Given the description of an element on the screen output the (x, y) to click on. 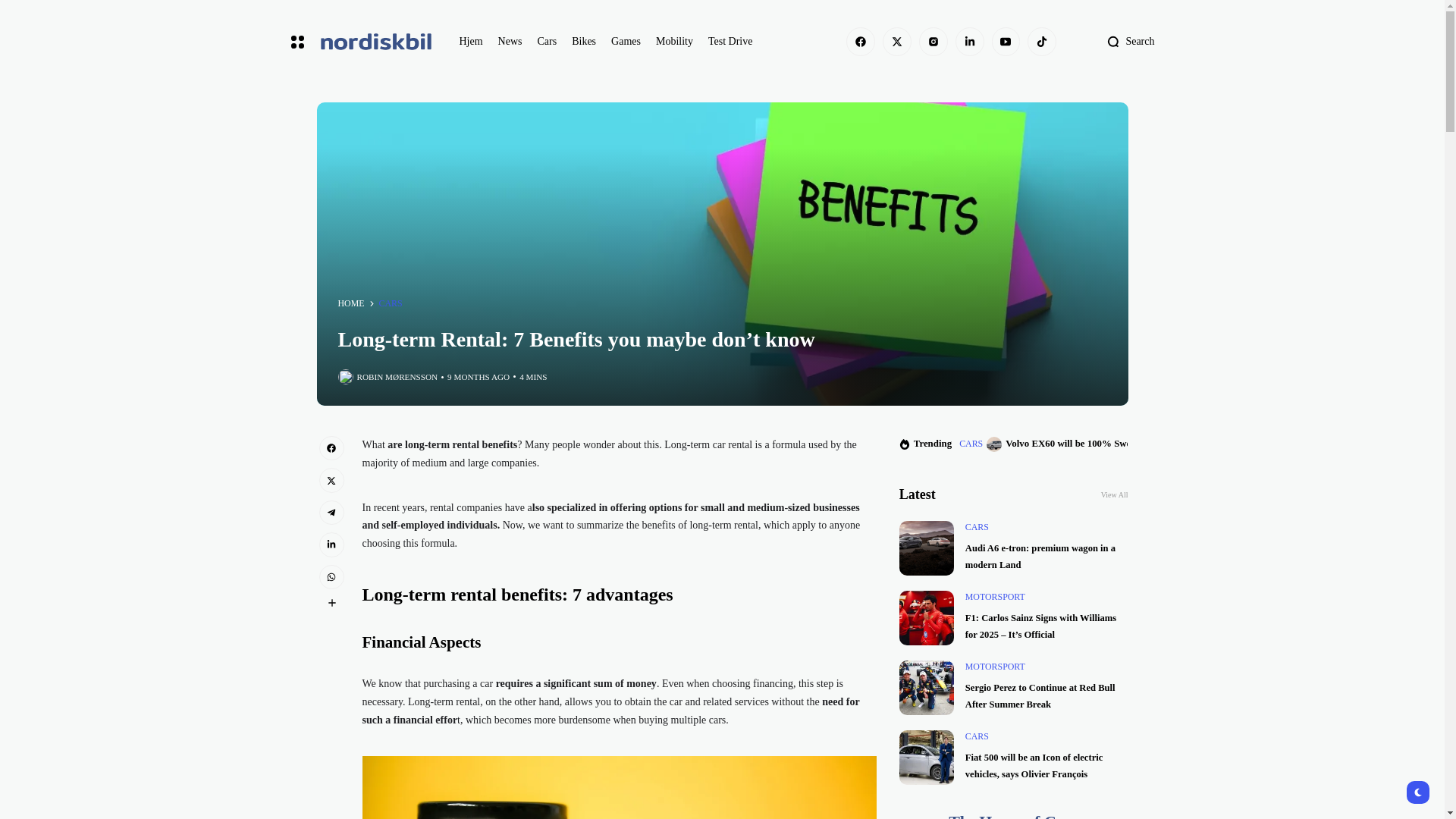
9 MONTHS AGO (477, 377)
instagram (932, 41)
linkedin (969, 41)
CARS (390, 304)
twitter (896, 41)
tiktok (1042, 41)
HOME (351, 304)
NordiskBil (375, 41)
facebook (860, 41)
youtube (1005, 41)
